Given the description of an element on the screen output the (x, y) to click on. 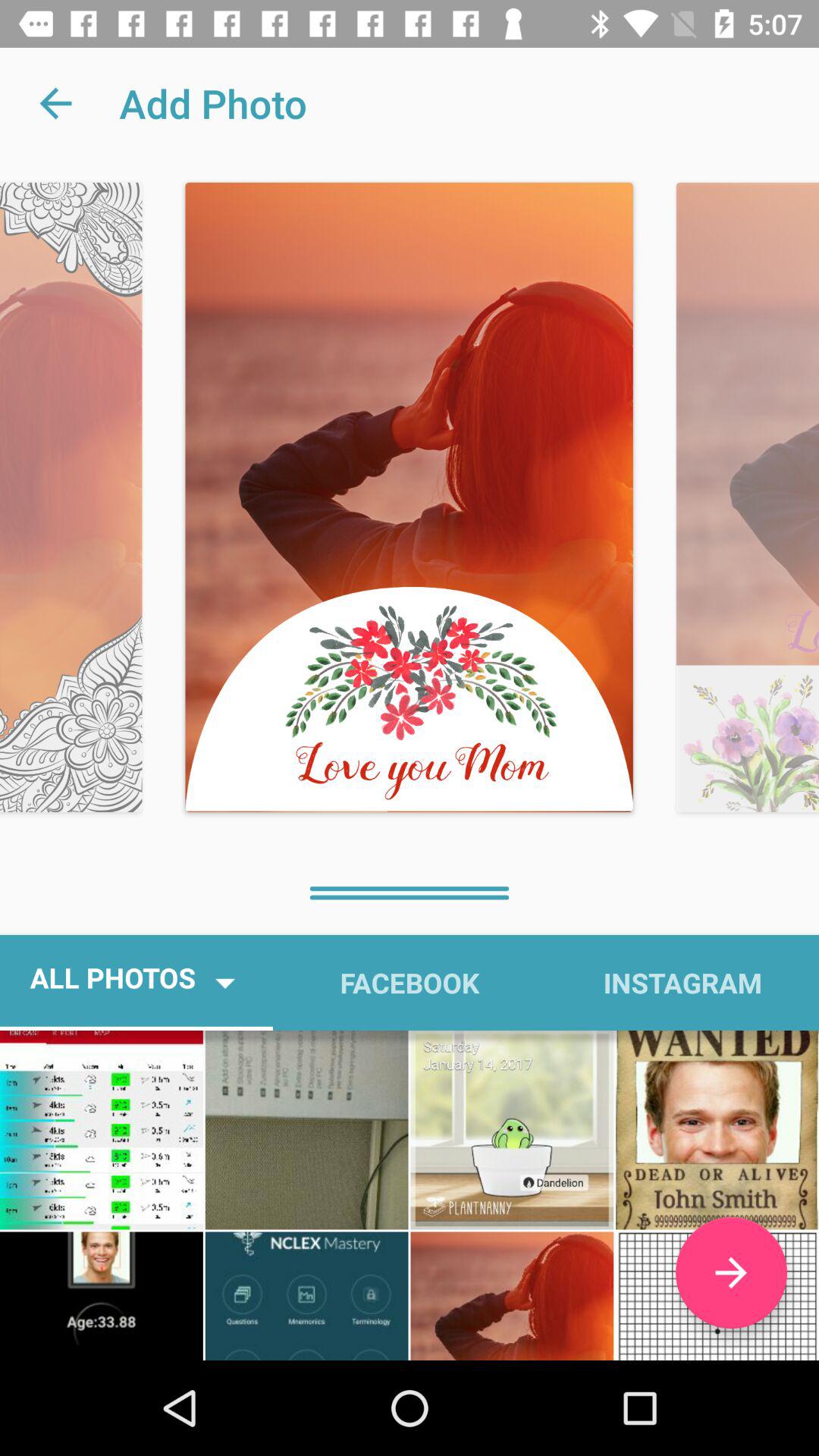
tap app to the left of add photo icon (55, 103)
